Given the description of an element on the screen output the (x, y) to click on. 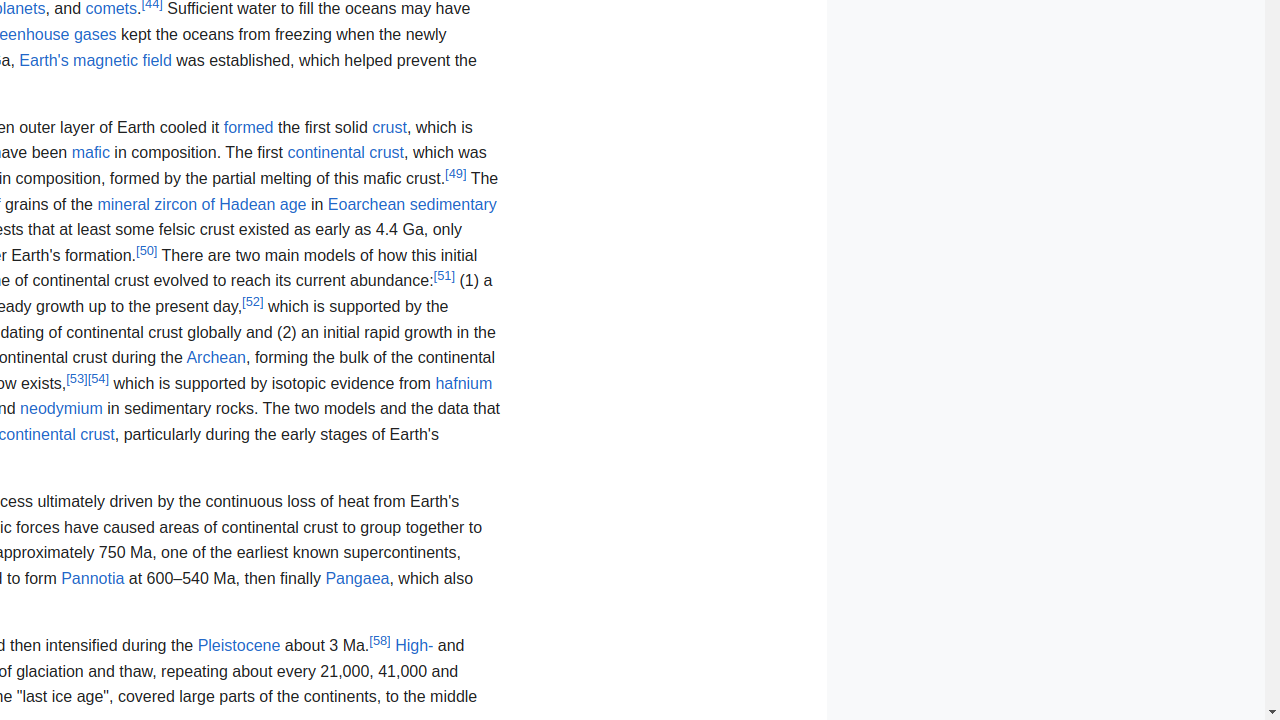
Pannotia Element type: link (93, 578)
[51] Element type: link (444, 276)
Eoarchean Element type: link (366, 204)
formed Element type: link (248, 127)
High- Element type: link (414, 646)
